Given the description of an element on the screen output the (x, y) to click on. 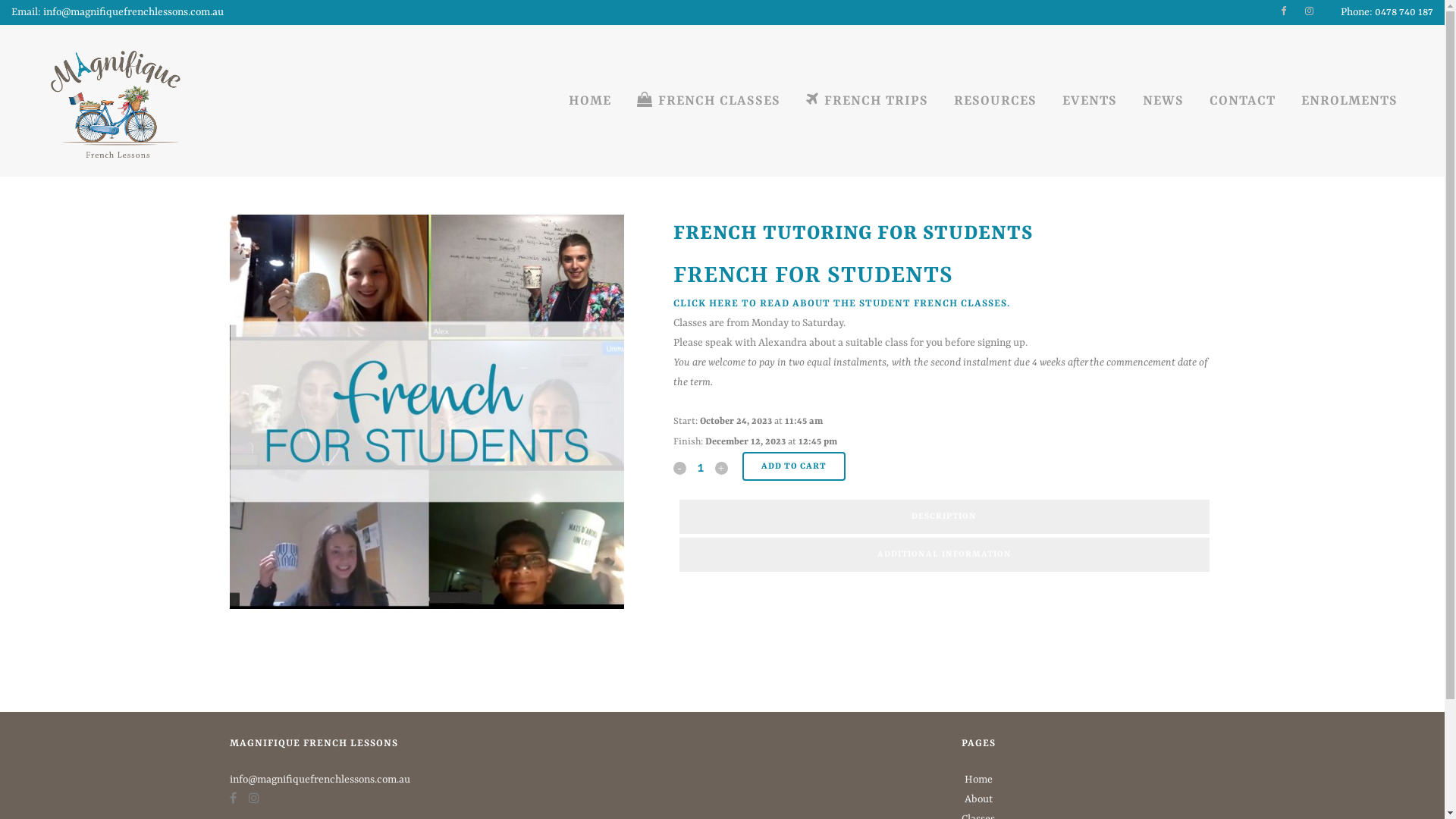
RESOURCES Element type: text (995, 100)
NEWS Element type: text (1162, 100)
FRENCH TRIPS Element type: text (867, 100)
ADD TO CART Element type: text (792, 465)
EVENTS Element type: text (1089, 100)
CONTACT Element type: text (1242, 100)
FRENCH CLASSES Element type: text (708, 100)
CLICK HERE Element type: text (705, 303)
french tutor for french lessons Element type: hover (426, 411)
About Element type: text (978, 799)
0478 740 187 Element type: text (1403, 12)
info@magnifiquefrenchlessons.com.au Element type: text (319, 779)
ENROLMENTS Element type: text (1349, 100)
Home Element type: text (978, 779)
info@magnifiquefrenchlessons.com.au Element type: text (133, 12)
Qty Element type: hover (700, 466)
HOME Element type: text (589, 100)
